Given the description of an element on the screen output the (x, y) to click on. 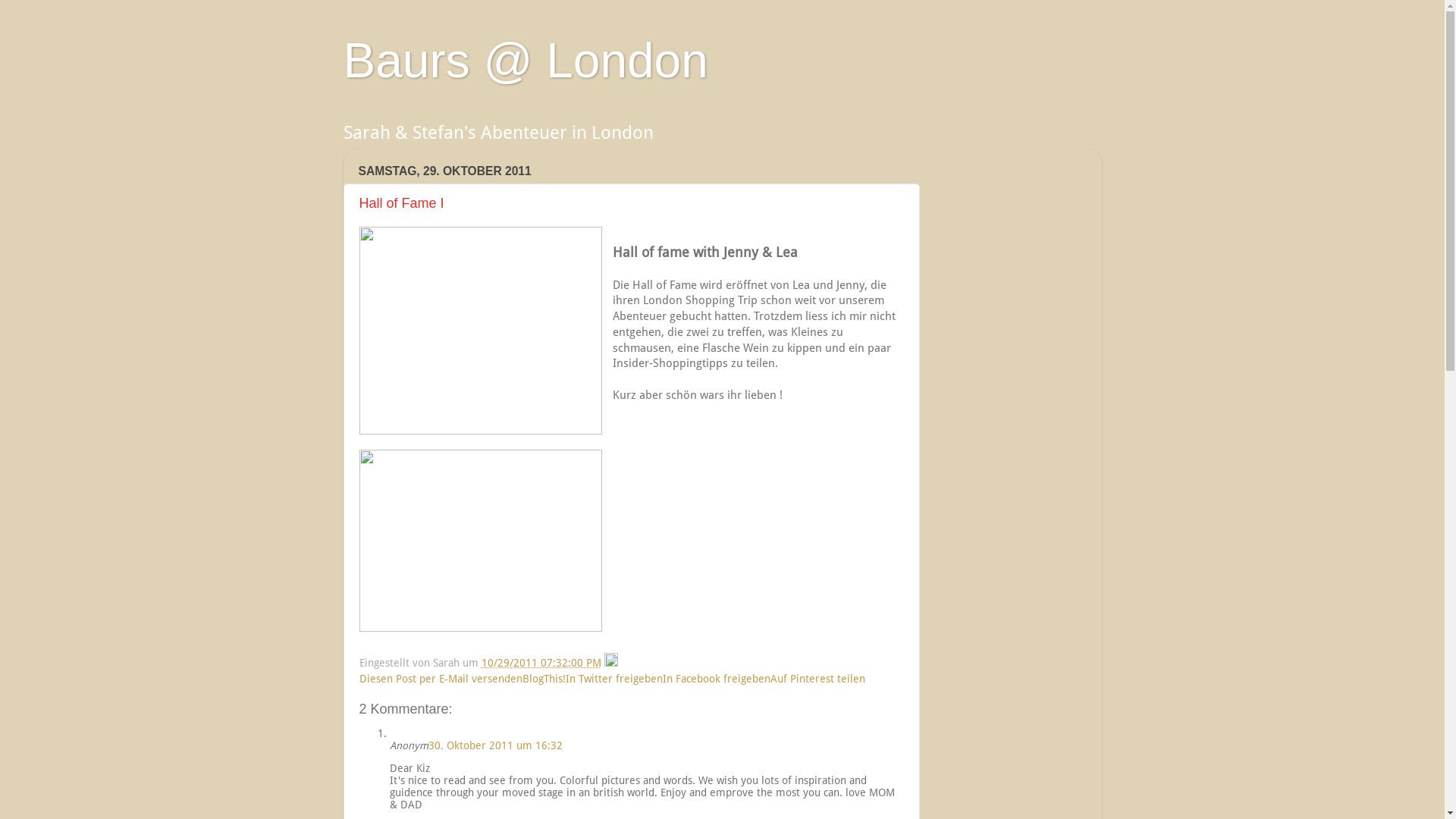
In Twitter freigeben Element type: text (613, 678)
10/29/2011 07:32:00 PM Element type: text (540, 662)
In Facebook freigeben Element type: text (716, 678)
Auf Pinterest teilen Element type: text (817, 678)
Baurs @ London Element type: text (524, 60)
Diesen Post per E-Mail versenden Element type: text (440, 678)
30. Oktober 2011 um 16:32 Element type: text (494, 745)
Post bearbeiten Element type: hover (610, 662)
BlogThis! Element type: text (542, 678)
